Given the description of an element on the screen output the (x, y) to click on. 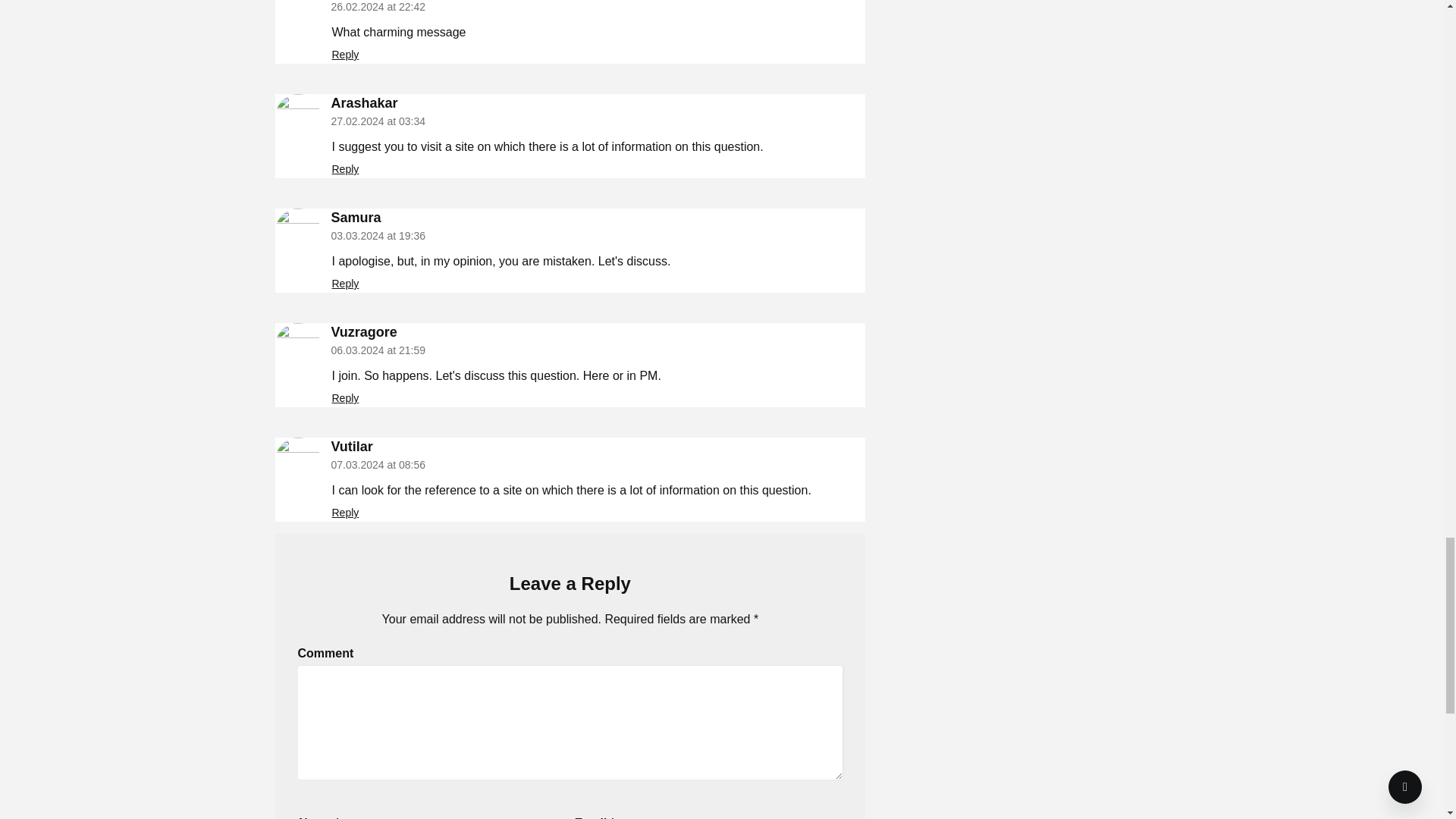
07.03.2024 at 08:56 (377, 464)
26.02.2024 at 22:42 (377, 6)
27.02.2024 at 03:34 (377, 121)
Reply (345, 54)
06.03.2024 at 21:59 (377, 349)
03.03.2024 at 19:36 (377, 235)
Reply (345, 512)
Reply (345, 398)
Reply (345, 283)
Reply (345, 168)
